Given the description of an element on the screen output the (x, y) to click on. 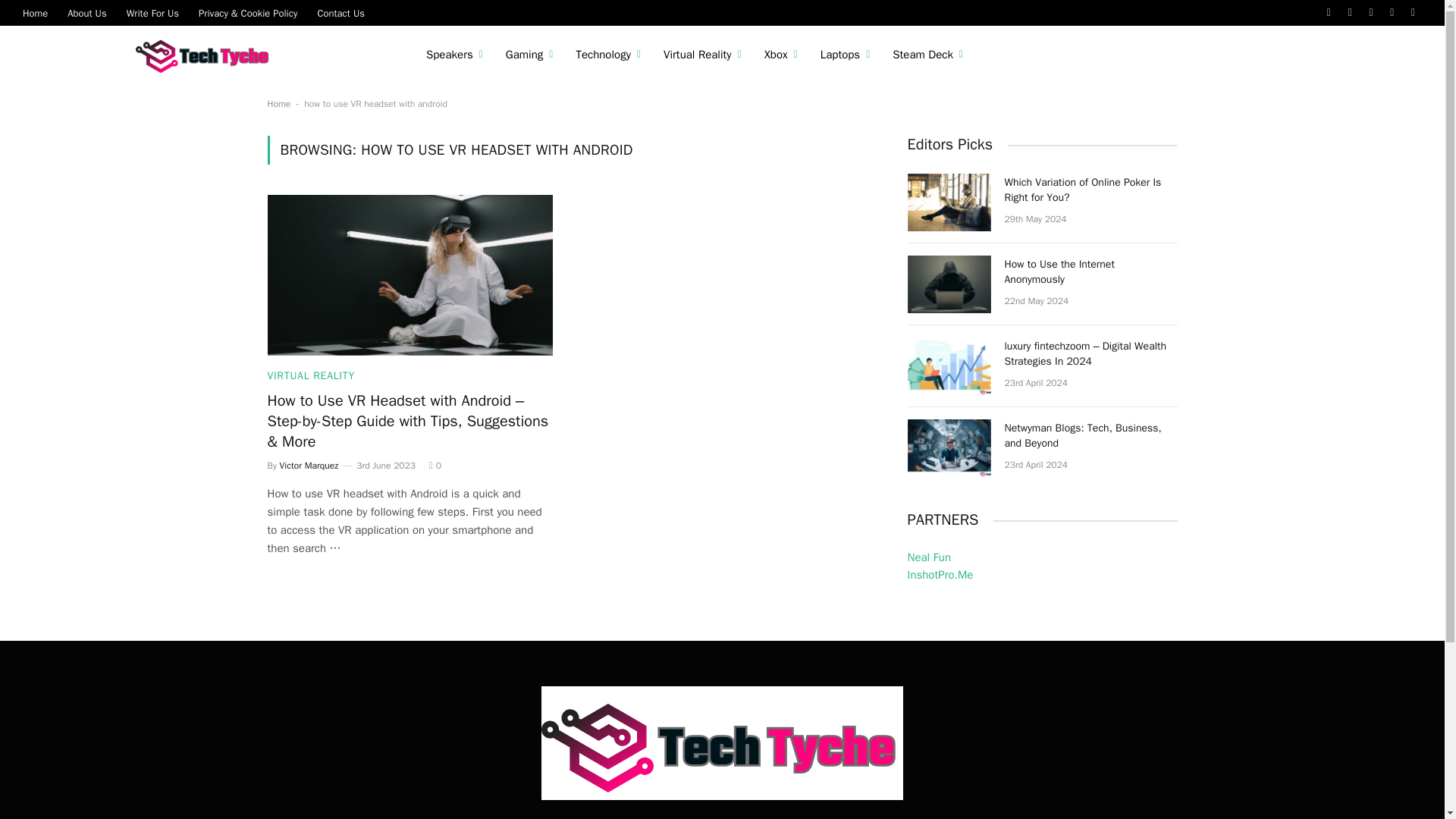
Gaming (529, 54)
Posts by Victor Marquez (309, 465)
Write For Us (152, 12)
Techtyche (205, 54)
Which Variation of Online Poker Is Right for You? (948, 201)
Home (35, 12)
Contact Us (340, 12)
About Us (87, 12)
Speakers (454, 54)
How to Use the Internet Anonymously (948, 283)
Netwyman Blogs: Tech, Business, and Beyond (948, 447)
